Given the description of an element on the screen output the (x, y) to click on. 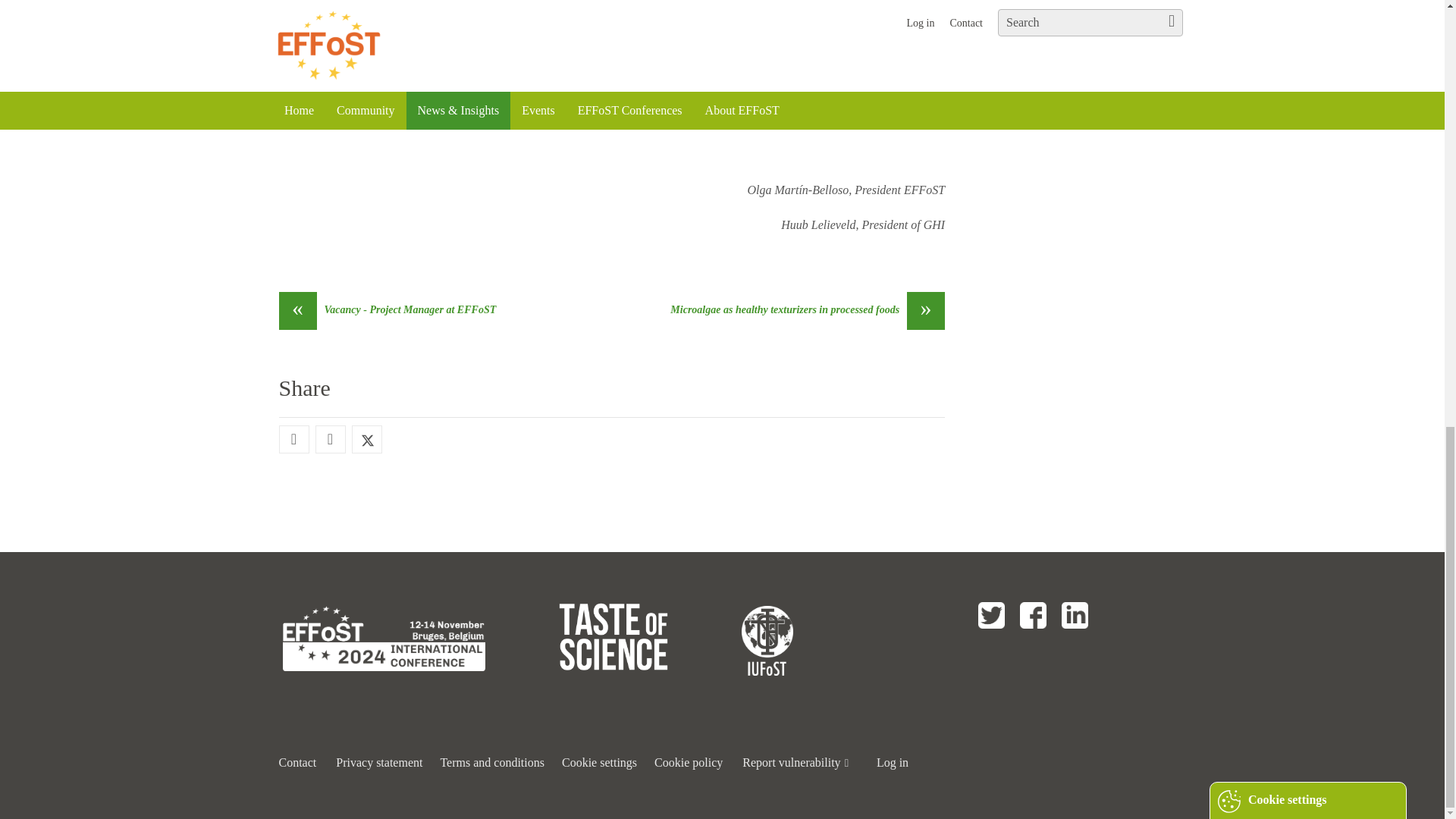
Deel deze pagina via LinkedIn (328, 439)
Deel deze pagina via Facebook (292, 439)
Ga naar 'Vacancy - Project Manager at EFFoST' (387, 310)
